Given the description of an element on the screen output the (x, y) to click on. 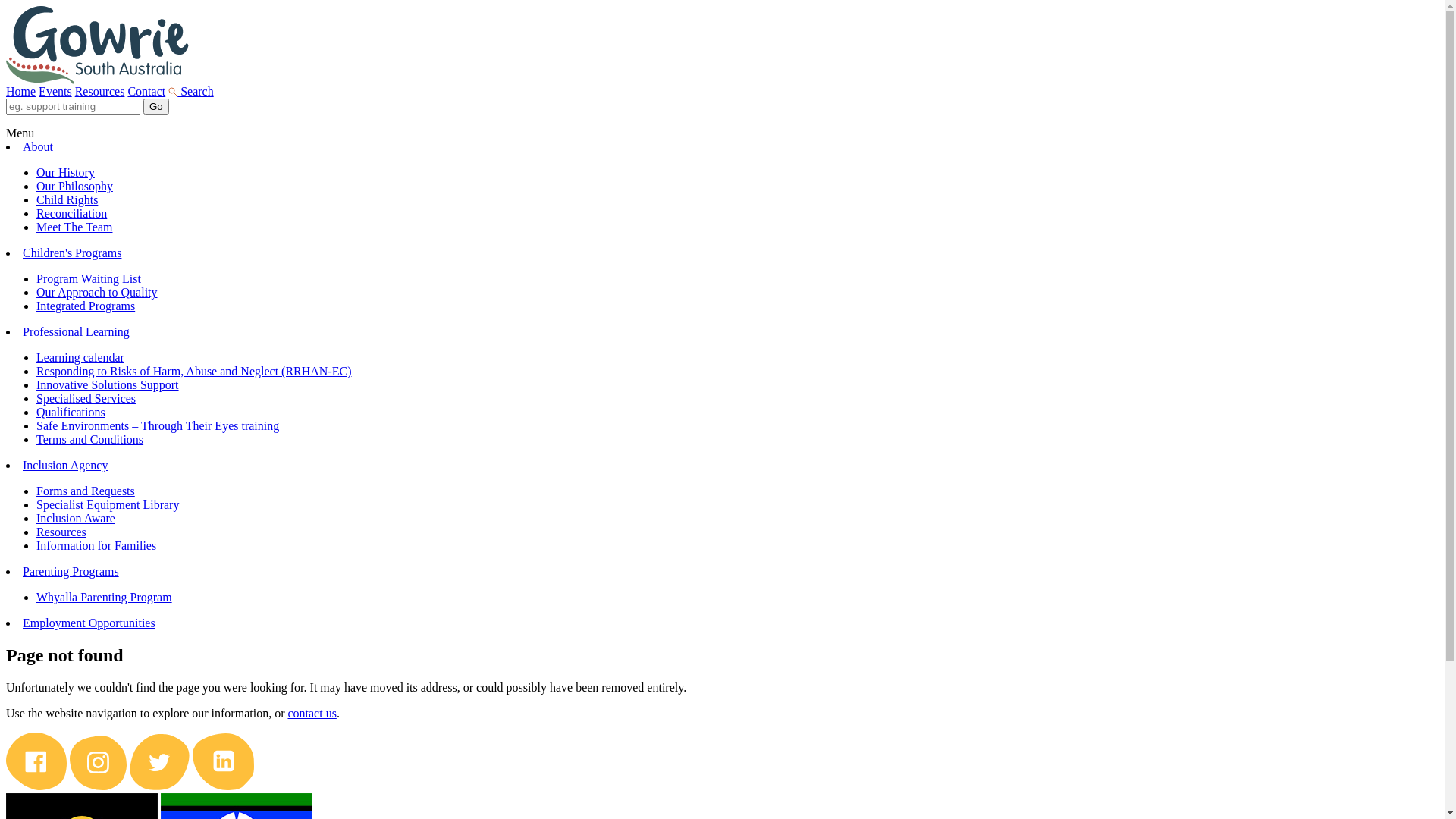
Qualifications Element type: text (70, 411)
Search Element type: text (190, 90)
Our Approach to Quality Element type: text (96, 291)
contact us Element type: text (311, 712)
Inclusion Aware Element type: text (75, 517)
Events Element type: text (55, 90)
Professional Learning Element type: text (75, 331)
Innovative Solutions Support Element type: text (107, 384)
Terms and Conditions Element type: text (89, 439)
Our History Element type: text (65, 172)
Responding to Risks of Harm, Abuse and Neglect (RRHAN-EC) Element type: text (193, 370)
Resources Element type: text (100, 90)
Learning calendar Element type: text (80, 357)
Meet The Team Element type: text (74, 226)
About Element type: text (37, 146)
Our Philosophy Element type: text (74, 185)
Home Element type: text (20, 90)
Inclusion Agency Element type: text (64, 464)
Children's Programs Element type: text (71, 252)
Contact Element type: text (146, 90)
Resources Element type: text (61, 531)
Integrated Programs Element type: text (85, 305)
Employment Opportunities Element type: text (88, 622)
Go Element type: text (156, 106)
Whyalla Parenting Program Element type: text (104, 596)
Parenting Programs Element type: text (70, 570)
Reconciliation Element type: text (71, 213)
Specialised Services Element type: text (85, 398)
Child Rights Element type: text (66, 199)
Forms and Requests Element type: text (85, 490)
Program Waiting List Element type: text (88, 278)
Information for Families Element type: text (96, 545)
Specialist Equipment Library Element type: text (107, 504)
